Given the description of an element on the screen output the (x, y) to click on. 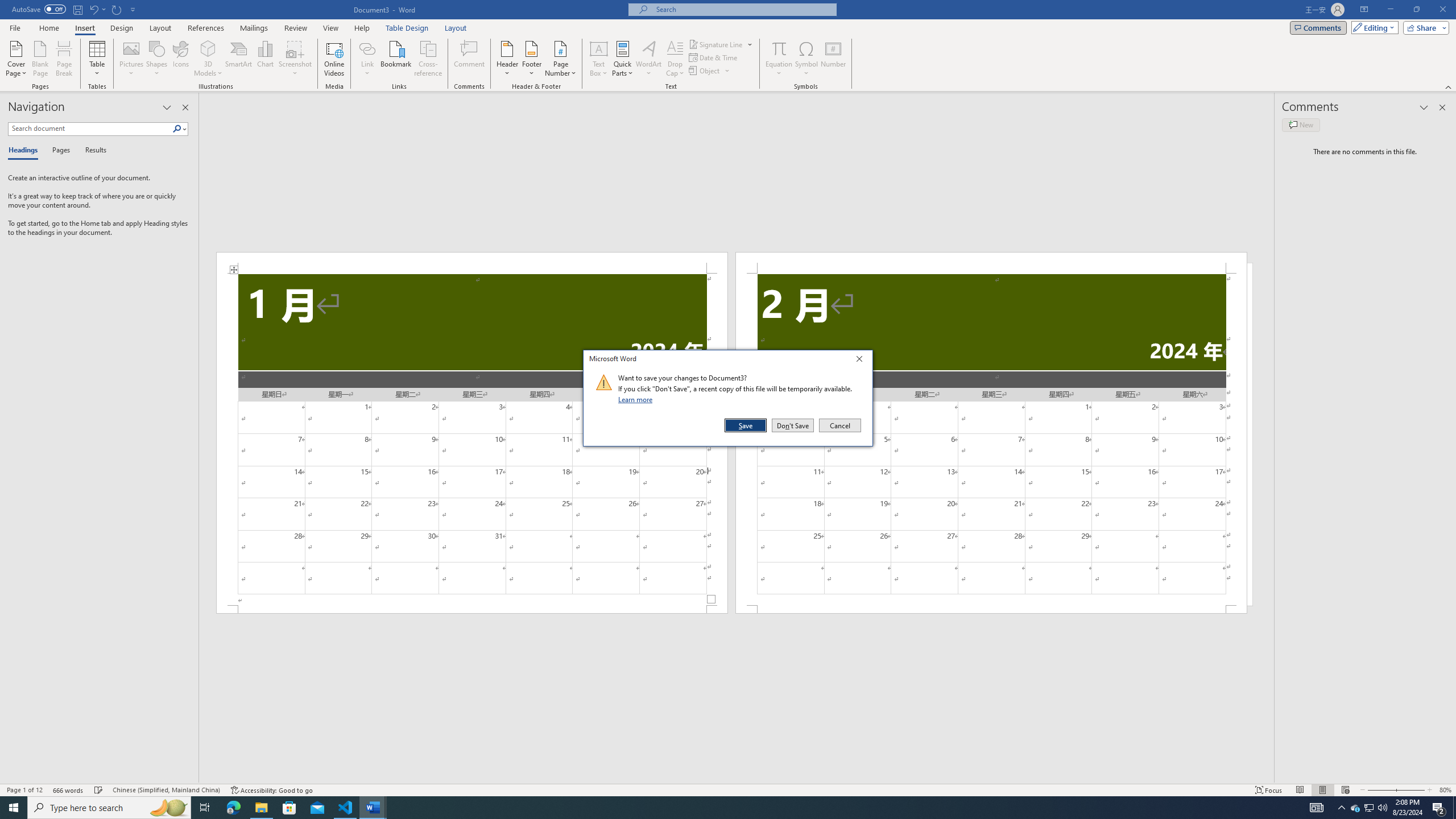
Print Layout (1322, 790)
Quick Parts (622, 58)
Zoom In (1408, 790)
Shapes (156, 58)
Footer -Section 2- (991, 609)
3D Models (208, 58)
References (205, 28)
Icons (180, 58)
Task Pane Options (167, 107)
AutoSave (38, 9)
Focus  (1268, 790)
Class: NetUIImage (603, 382)
User Promoted Notification Area (1368, 807)
File Tab (15, 27)
WordArt (648, 58)
